Given the description of an element on the screen output the (x, y) to click on. 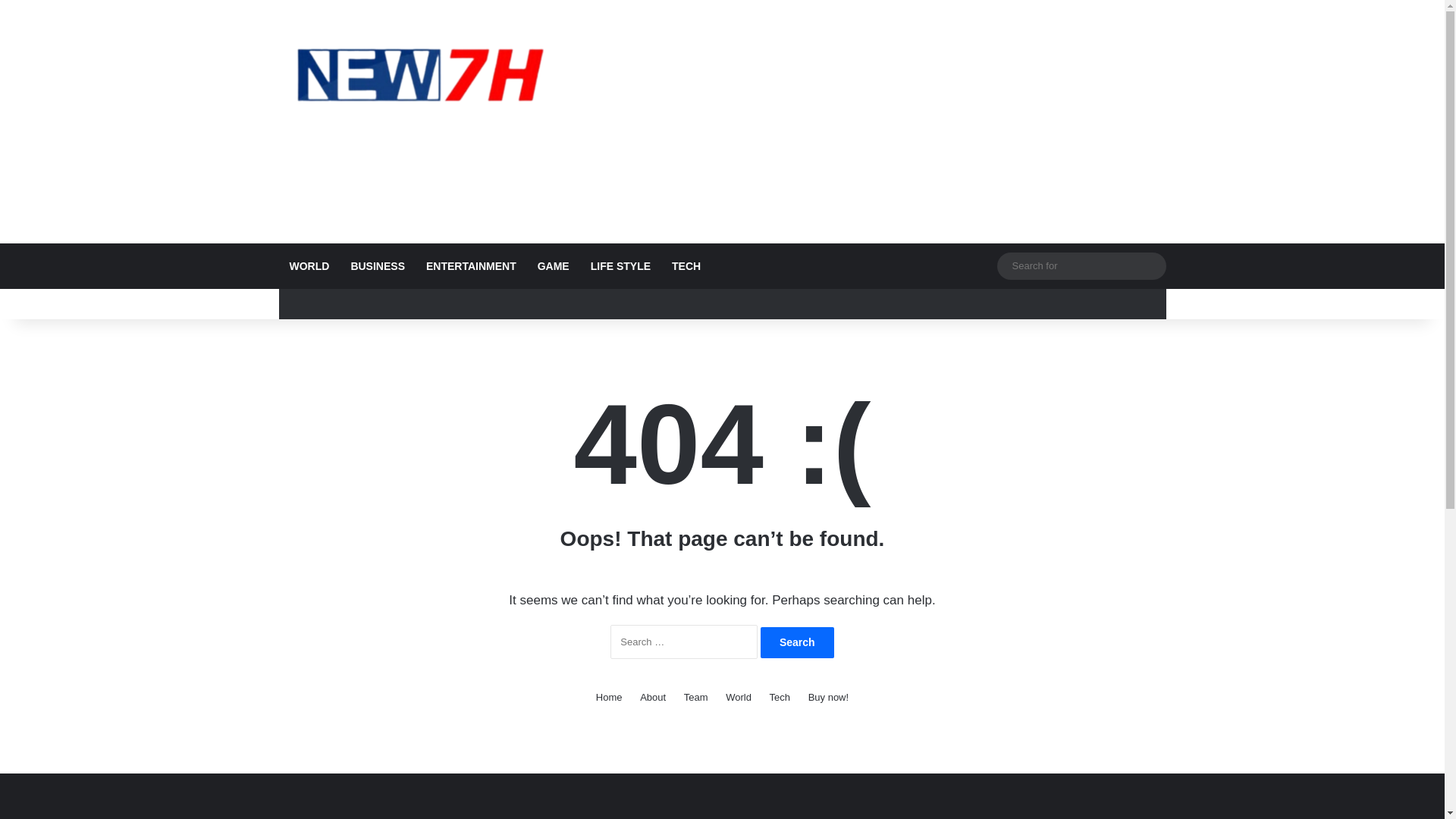
Search (797, 642)
Home (609, 697)
Search (797, 642)
ENTERTAINMENT (470, 266)
News7h (419, 73)
Tech (780, 697)
About (652, 697)
TECH (686, 266)
WORLD (309, 266)
Buy now! (828, 697)
Search for (1150, 266)
LIFE STYLE (620, 266)
Search (797, 642)
GAME (553, 266)
World (738, 697)
